Given the description of an element on the screen output the (x, y) to click on. 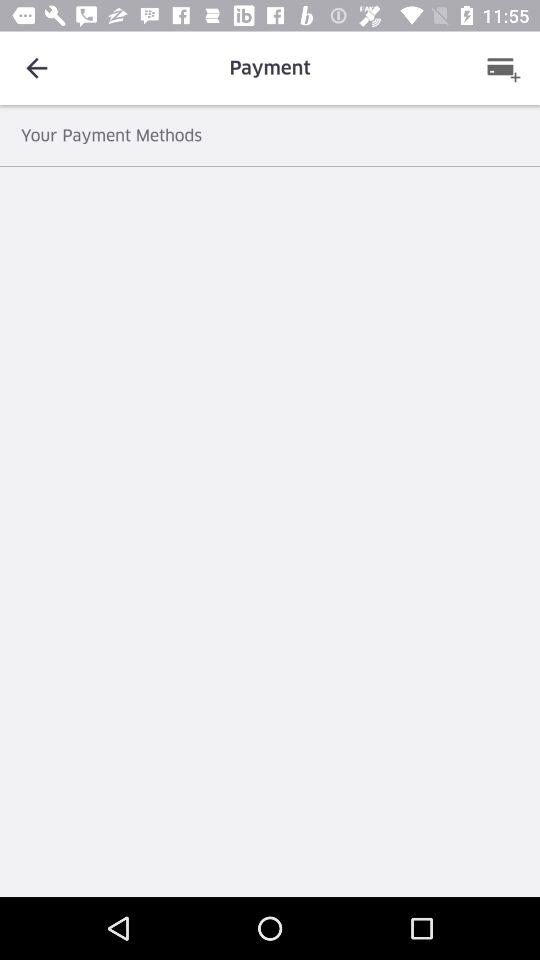
turn off item to the left of the payment icon (36, 68)
